Given the description of an element on the screen output the (x, y) to click on. 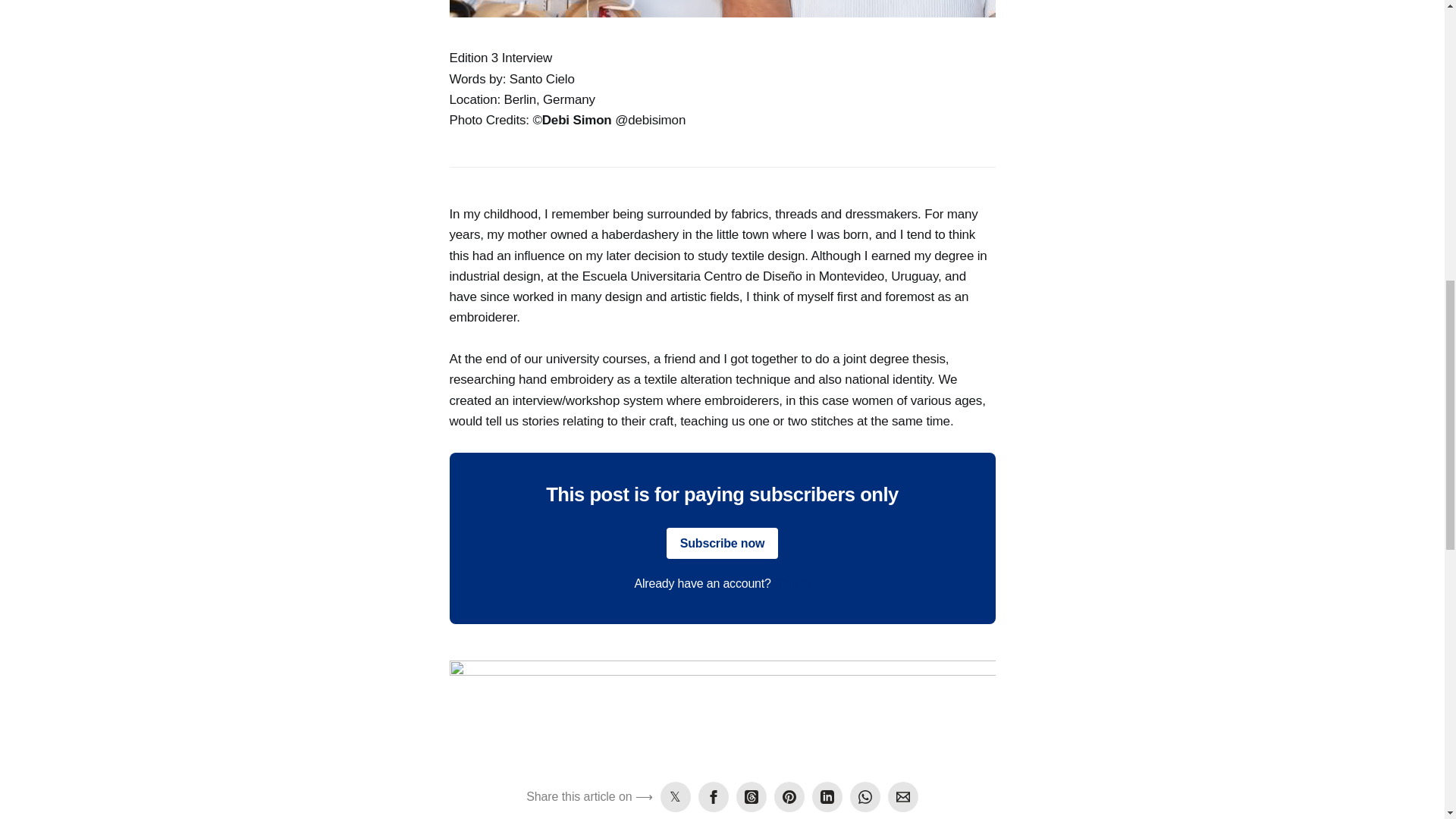
Share on Facebook (713, 797)
Share via Email (903, 797)
Subscribe now (722, 543)
Share on threads (751, 797)
Share on Pinterest (789, 797)
Sign in (792, 583)
Share on WhatsApp (865, 797)
Share on LinkedIn (827, 797)
